Given the description of an element on the screen output the (x, y) to click on. 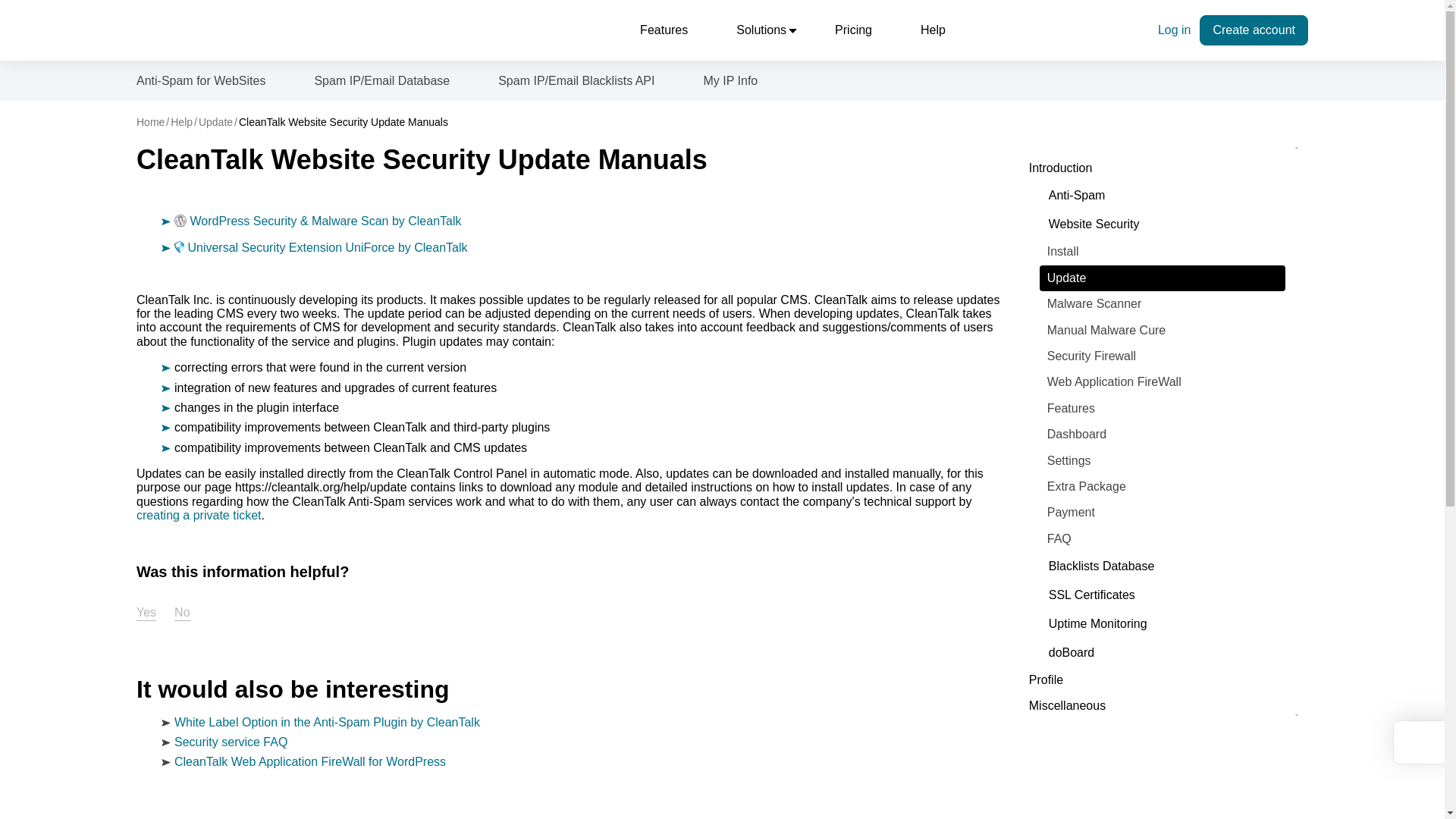
Home (150, 121)
Anti-Spam for WebSites (200, 80)
My IP Info  (731, 80)
Solutions (761, 29)
Update (215, 121)
Help (932, 29)
Help (181, 121)
WordPress logo (180, 220)
Pricing (853, 29)
cleantalk (206, 30)
Log in (1174, 29)
Features (663, 29)
Create account (1253, 30)
